Given the description of an element on the screen output the (x, y) to click on. 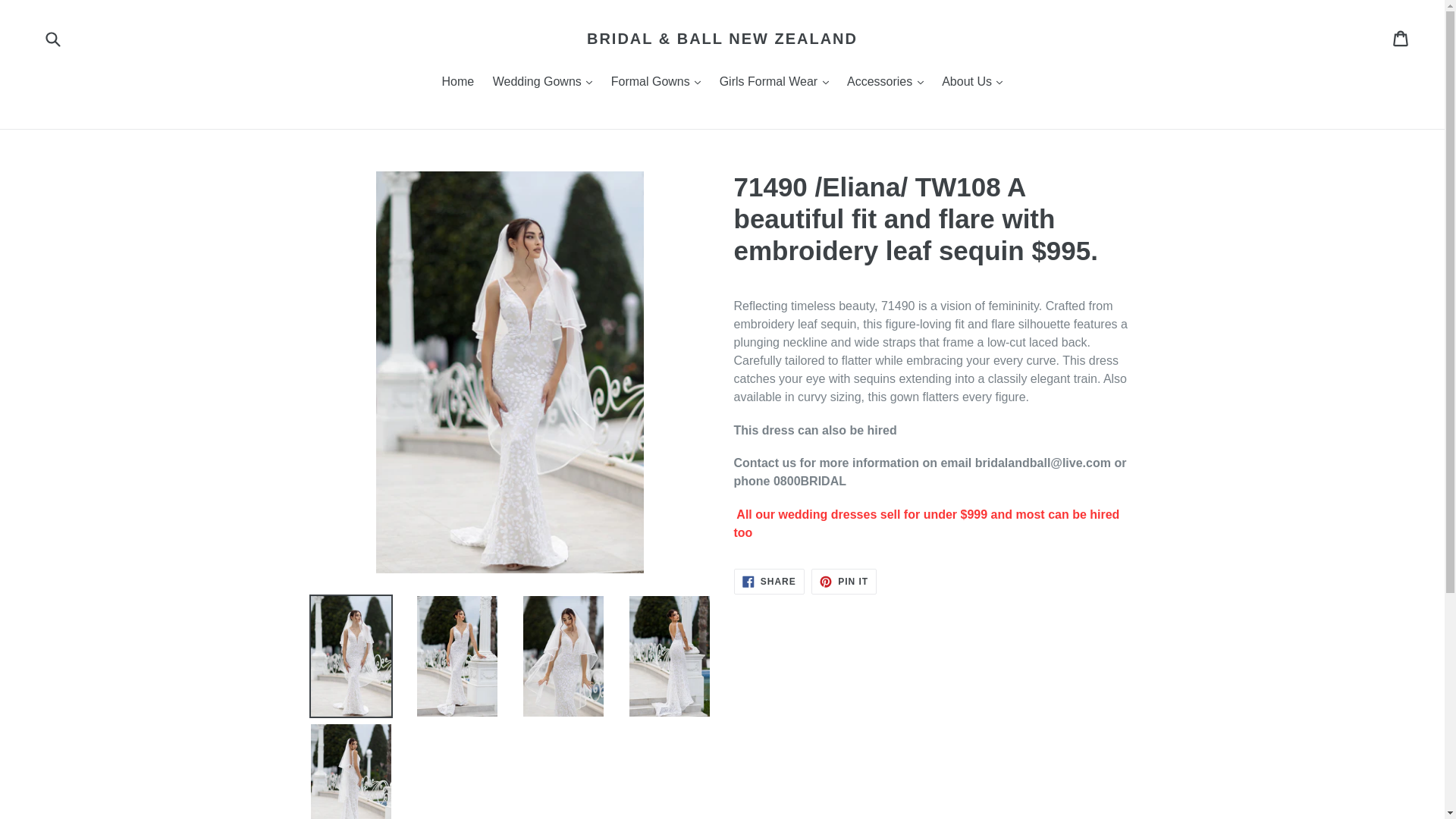
Share on Facebook (769, 581)
Submit (52, 38)
Pin on Pinterest (843, 581)
